Given the description of an element on the screen output the (x, y) to click on. 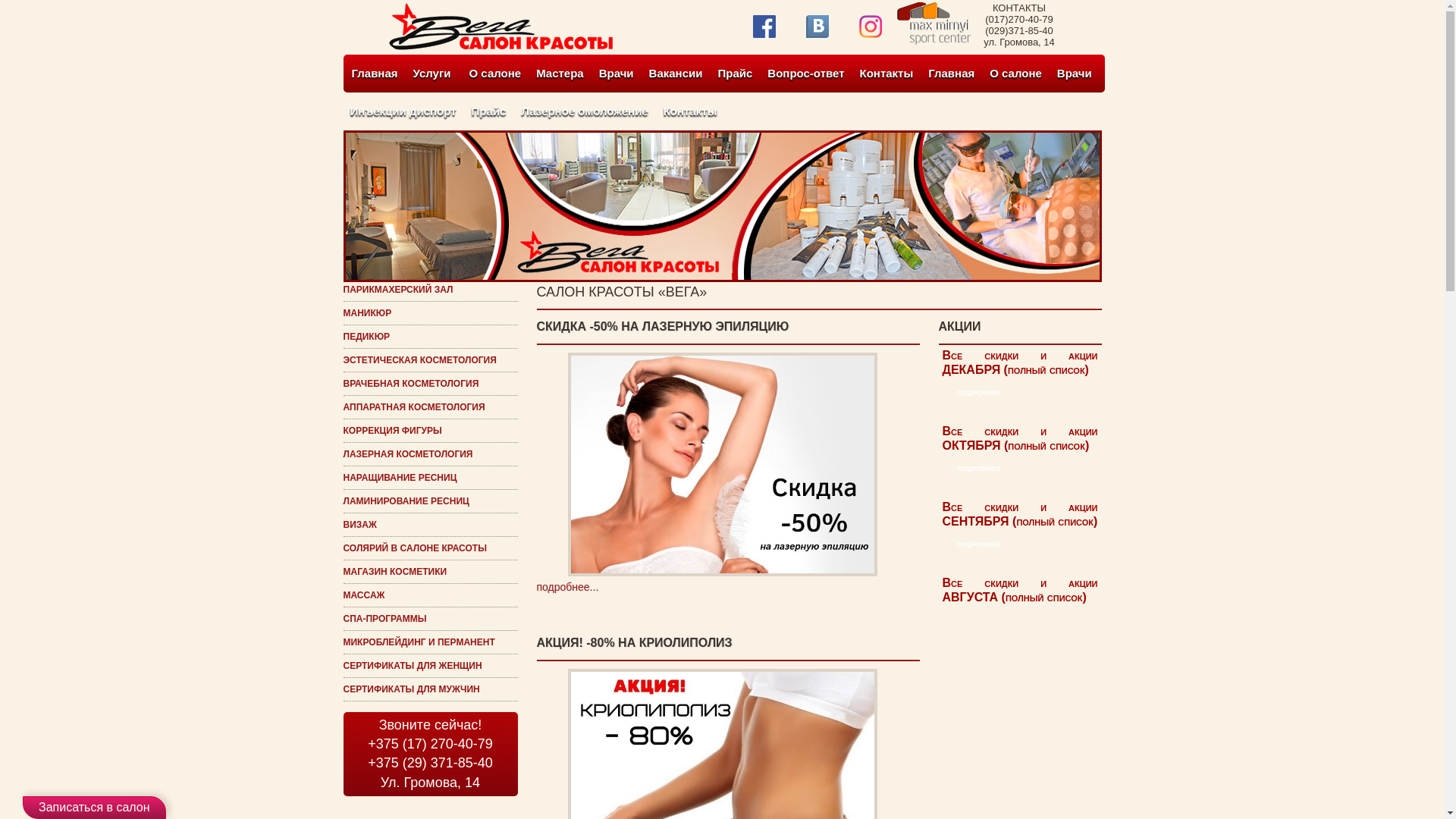
+375 (29) 371-85-40 Element type: text (430, 762)
vegasalon.by Element type: hover (499, 46)
+375 (17) 270-40-79 Element type: text (430, 743)
facebook vega salon Element type: hover (763, 26)
